Given the description of an element on the screen output the (x, y) to click on. 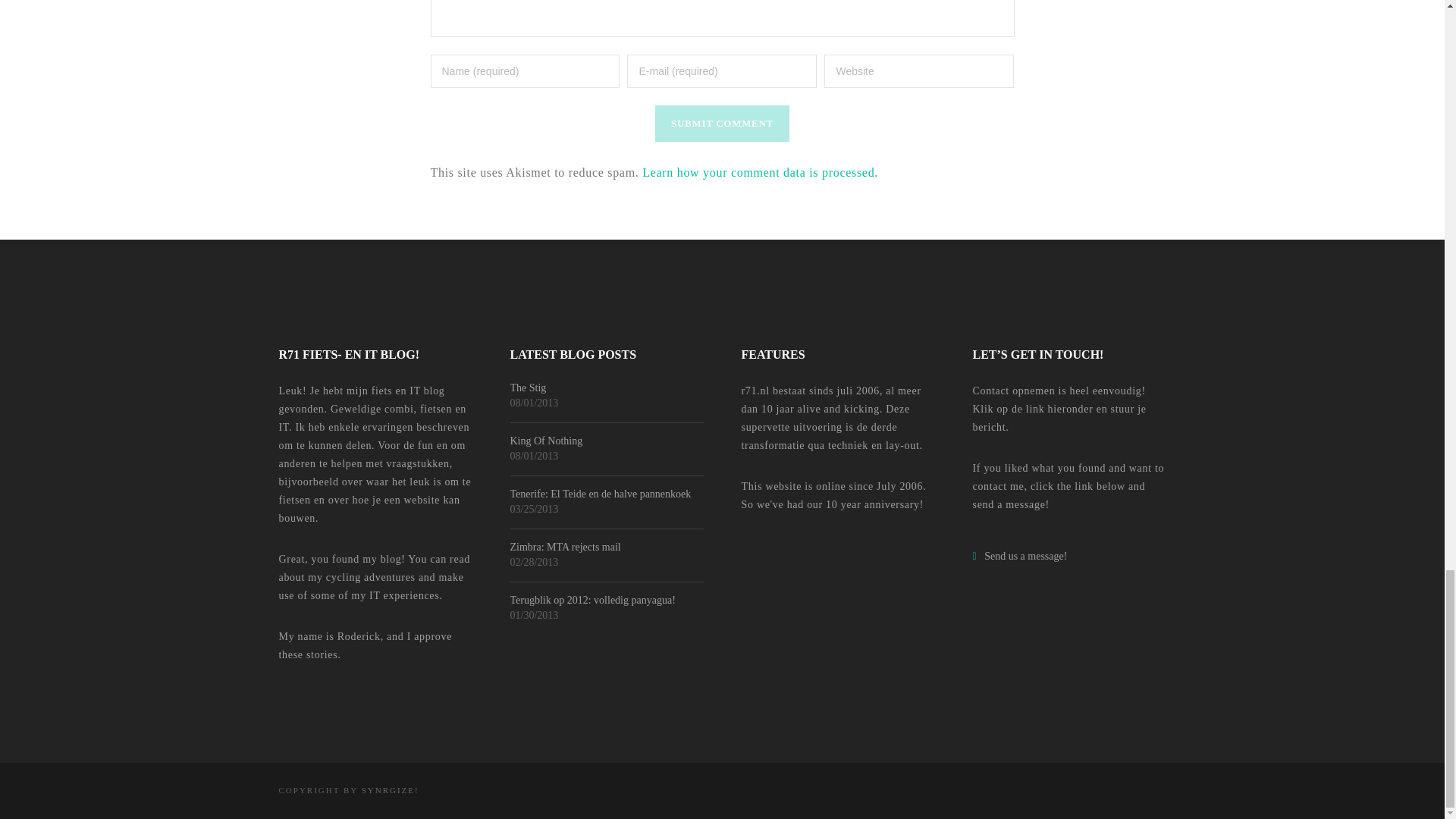
The Stig (606, 388)
King Of Nothing (606, 440)
Tenerife: El Teide en de halve pannenkoek (606, 494)
Learn how your comment data is processed (758, 172)
King Of Nothing (606, 440)
SYNRGIZE (387, 789)
Zimbra: MTA rejects mail (606, 547)
   Send us a message! (1019, 555)
The Stig (606, 388)
Terugblik op 2012: volledig panyagua! (606, 600)
